Given the description of an element on the screen output the (x, y) to click on. 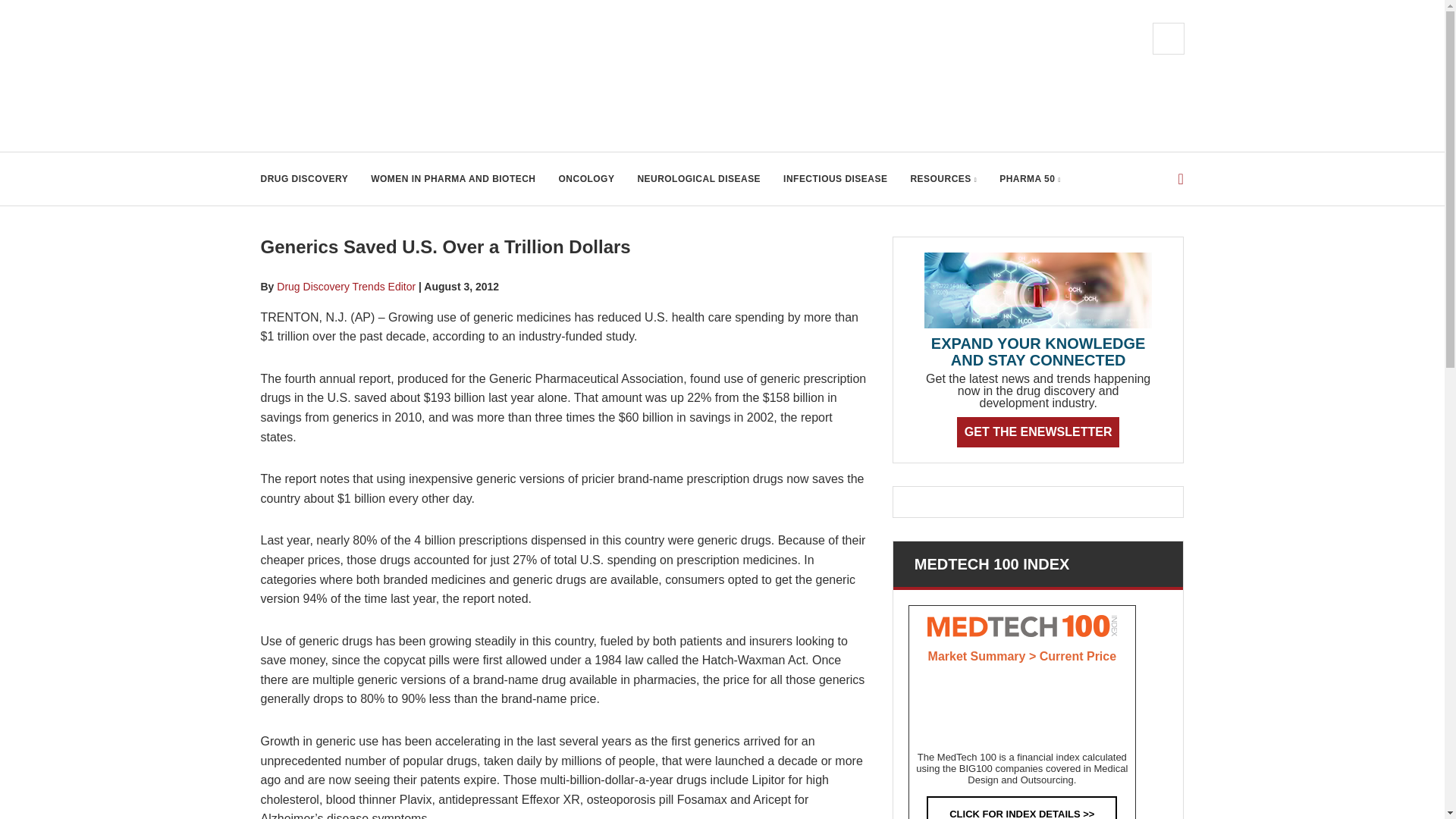
GET THE ENEWSLETTER (1037, 431)
Drug Discovery Trends Editor (345, 286)
NEUROLOGICAL DISEASE (698, 178)
DRUG DISCOVERY (304, 178)
GET THE ENEWSLETTER (1037, 431)
Drug Discovery and Development (412, 75)
RESOURCES (943, 178)
ONCOLOGY (586, 178)
WOMEN IN PHARMA AND BIOTECH (453, 178)
PHARMA 50 (1029, 178)
